Given the description of an element on the screen output the (x, y) to click on. 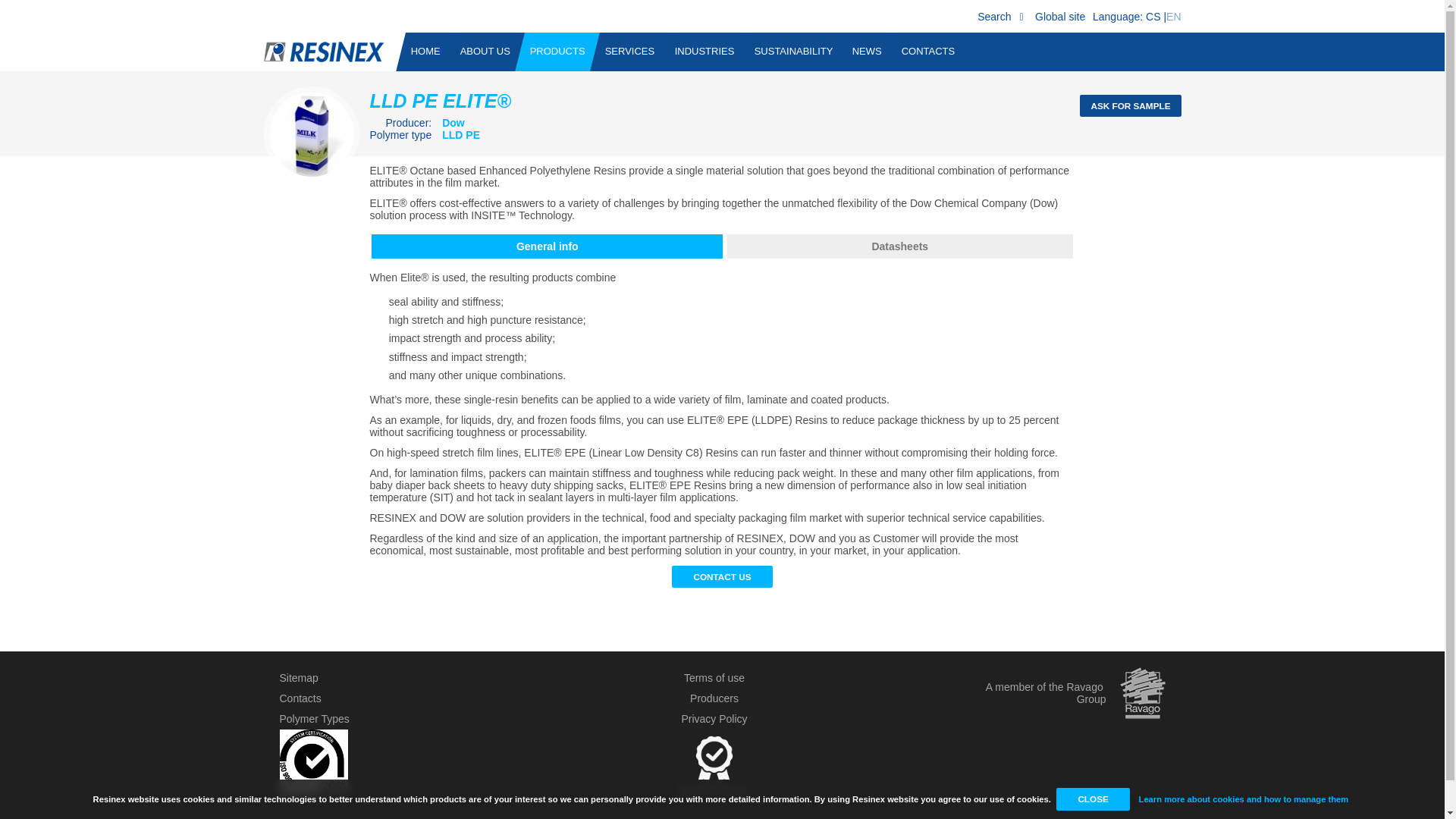
Polymer Types (314, 718)
Polymer Types (314, 718)
Terms of use (714, 677)
Producers (714, 698)
ABOUT US (484, 51)
CS (1152, 16)
Contacts (299, 698)
Sitemap (298, 677)
Privacy Policy (713, 718)
PRODUCTS (557, 51)
General info (546, 246)
INDUSTRIES (703, 51)
Sitemap (298, 677)
BSI Certificate Resinex UK (313, 791)
CONTACTS (928, 51)
